Given the description of an element on the screen output the (x, y) to click on. 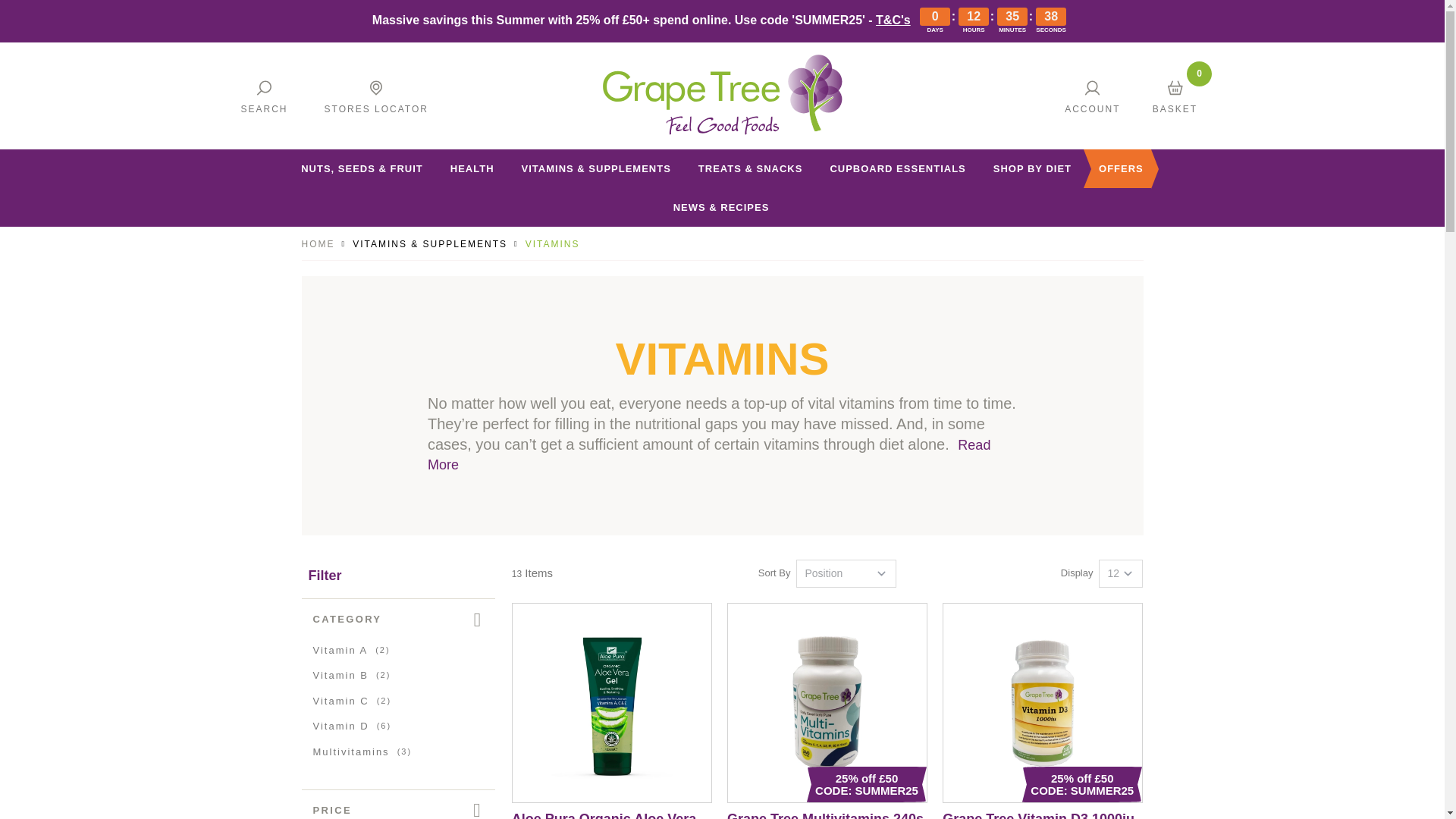
ACCOUNT (1091, 95)
STORES LOCATOR (376, 95)
BASKET (1175, 95)
